Given the description of an element on the screen output the (x, y) to click on. 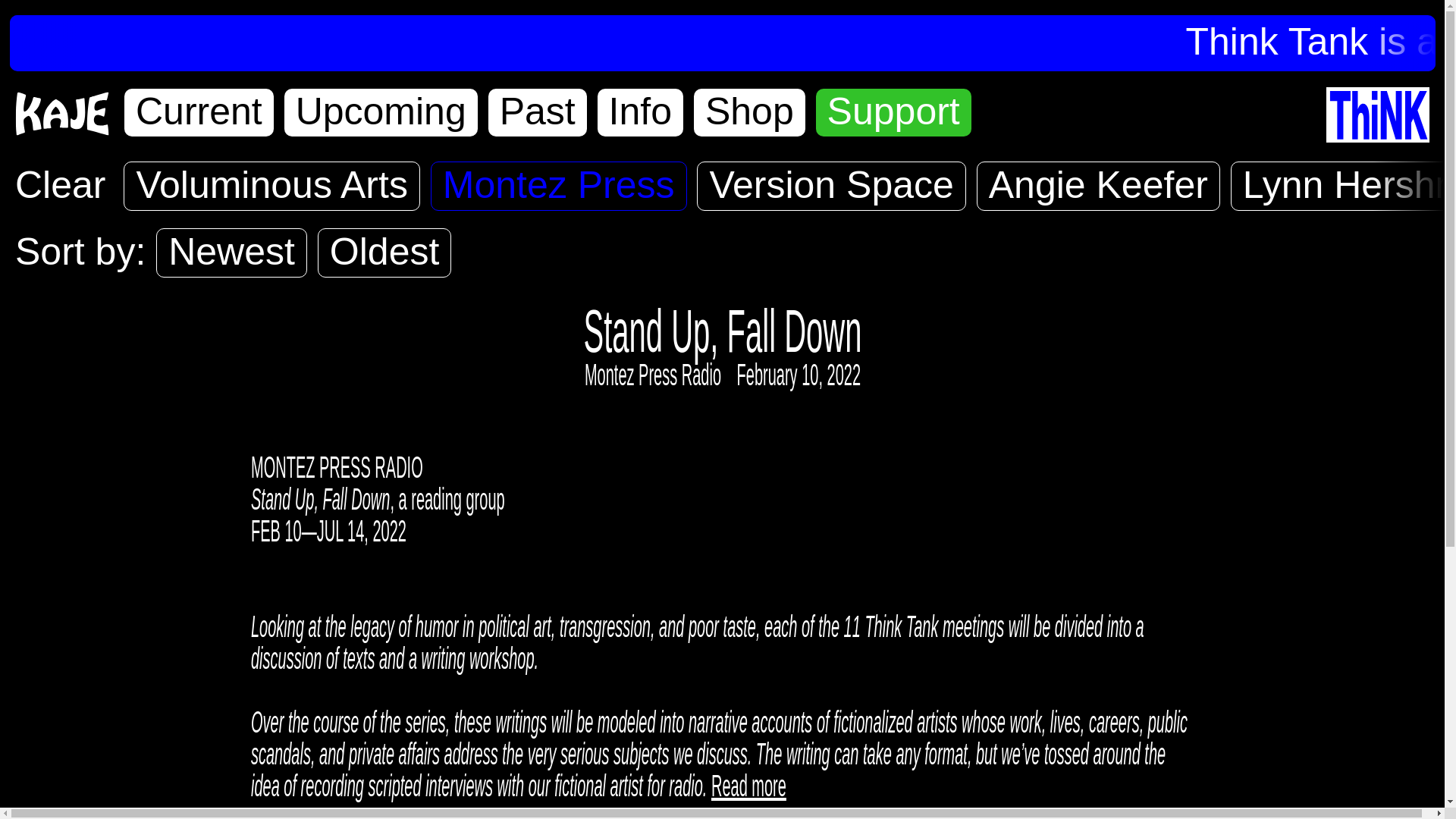
Angie Keefer (1098, 185)
Upcoming (380, 112)
Shop (749, 112)
Version Space (831, 185)
Info (639, 112)
Stand Up, Fall Down (721, 330)
Read more (785, 785)
Oldest (384, 252)
Past (536, 112)
Support (893, 112)
Newest (231, 252)
Current (198, 112)
Montez Press (558, 185)
Clear (59, 184)
Voluminous Arts (271, 185)
